Given the description of an element on the screen output the (x, y) to click on. 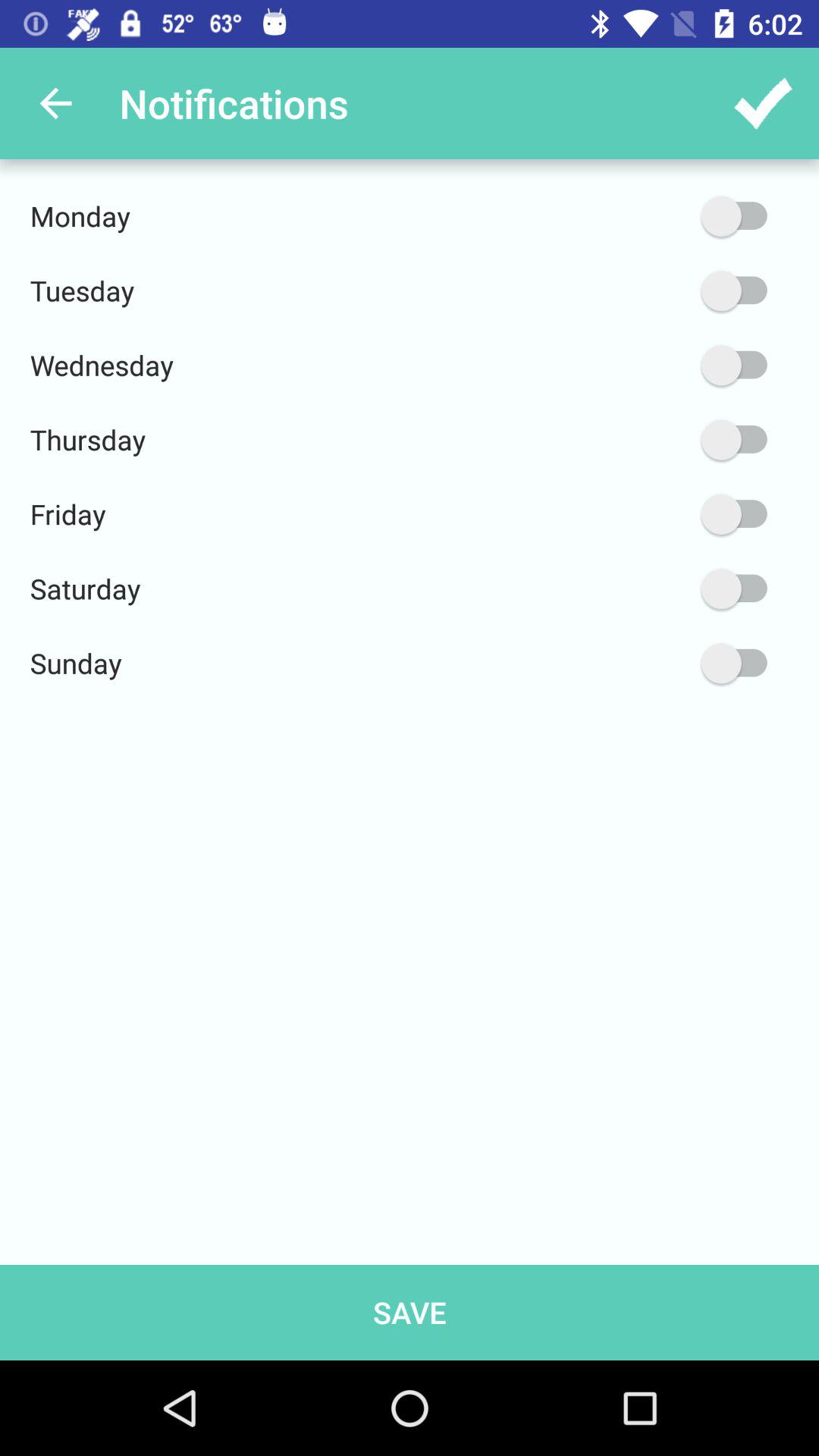
toggle the friday option (661, 514)
